Given the description of an element on the screen output the (x, y) to click on. 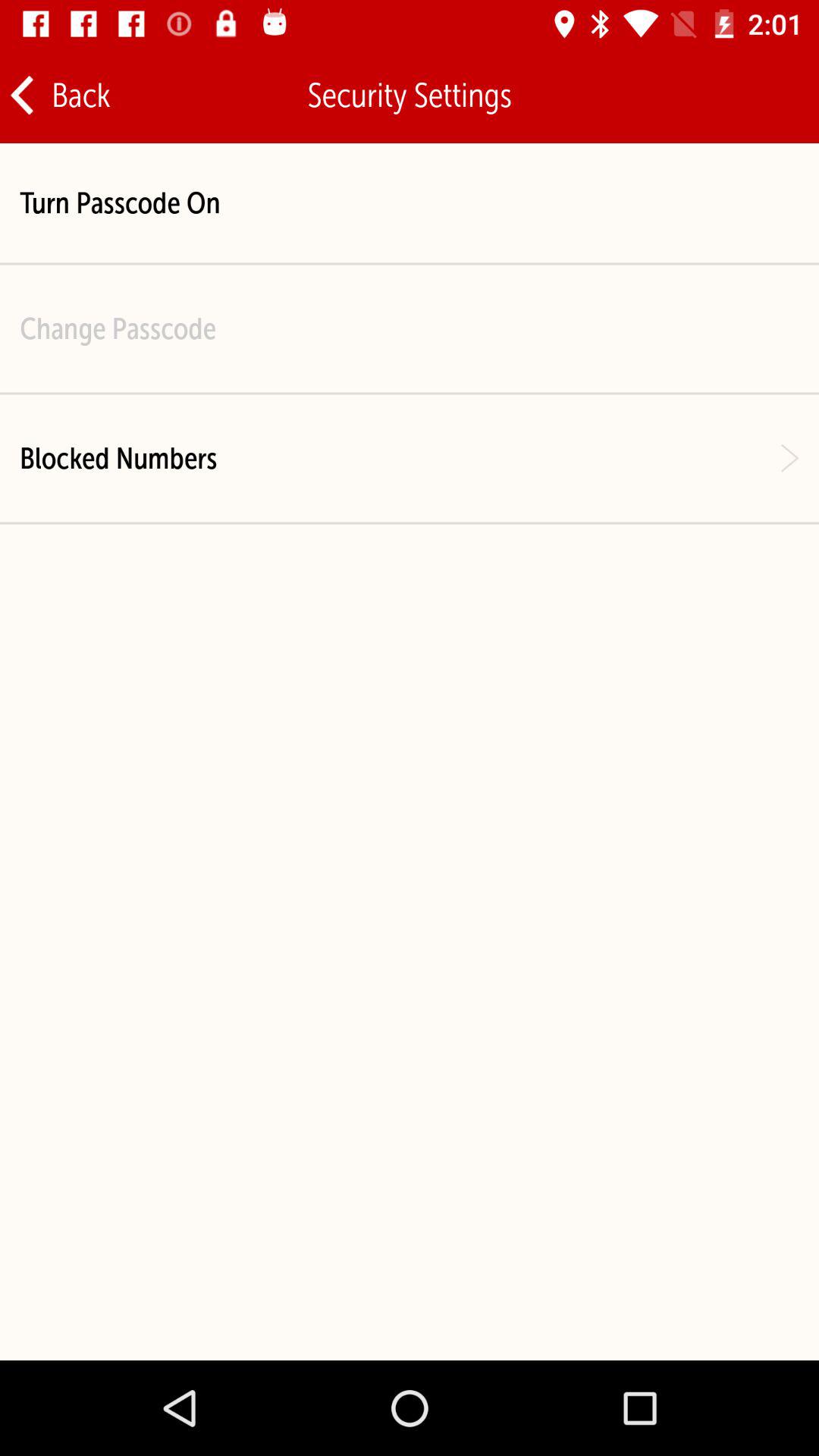
scroll to change passcode (117, 328)
